Given the description of an element on the screen output the (x, y) to click on. 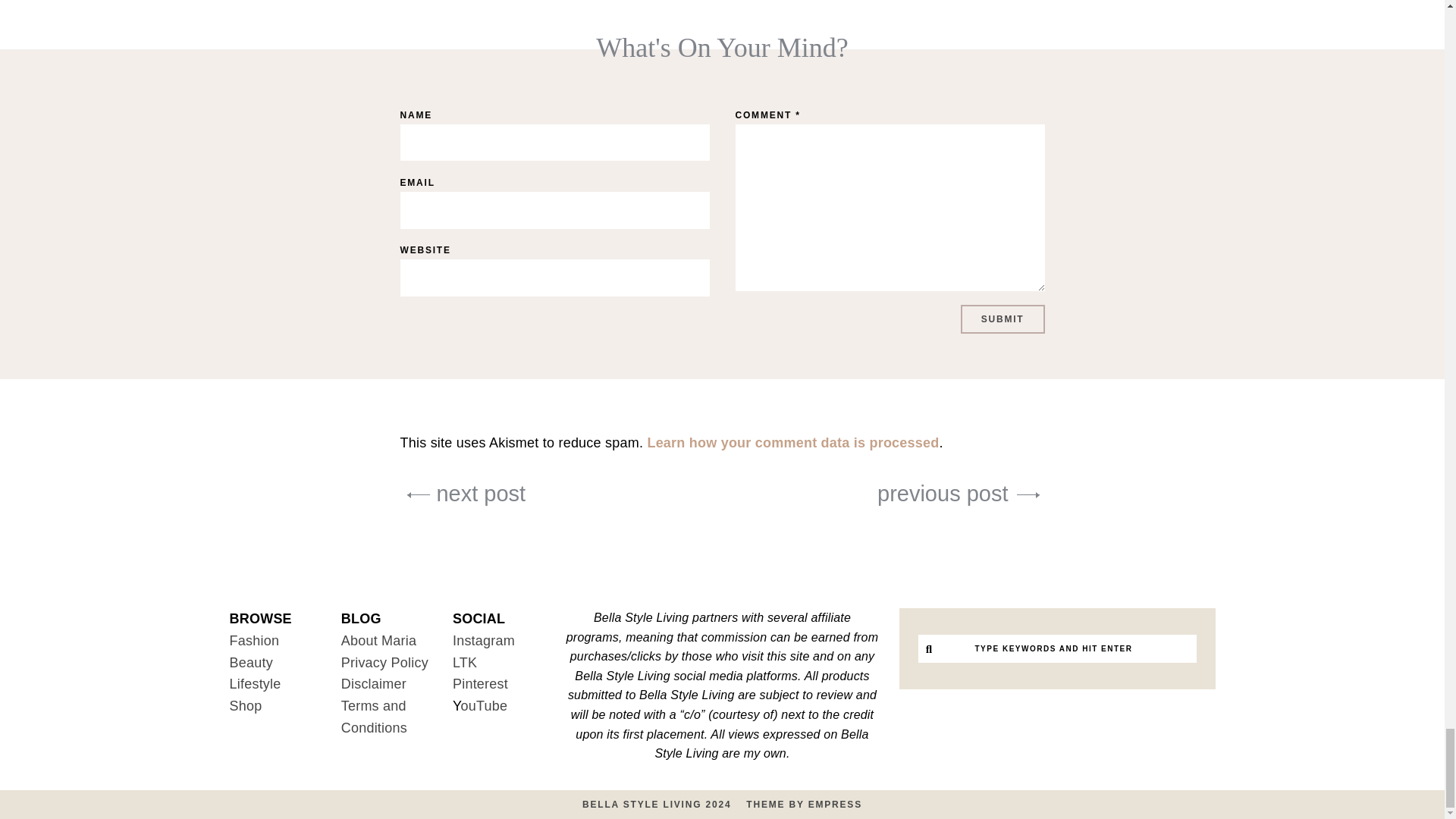
Type keywords and hit enter (1053, 648)
Type keywords and hit enter (1053, 648)
Submit (1002, 318)
